Given the description of an element on the screen output the (x, y) to click on. 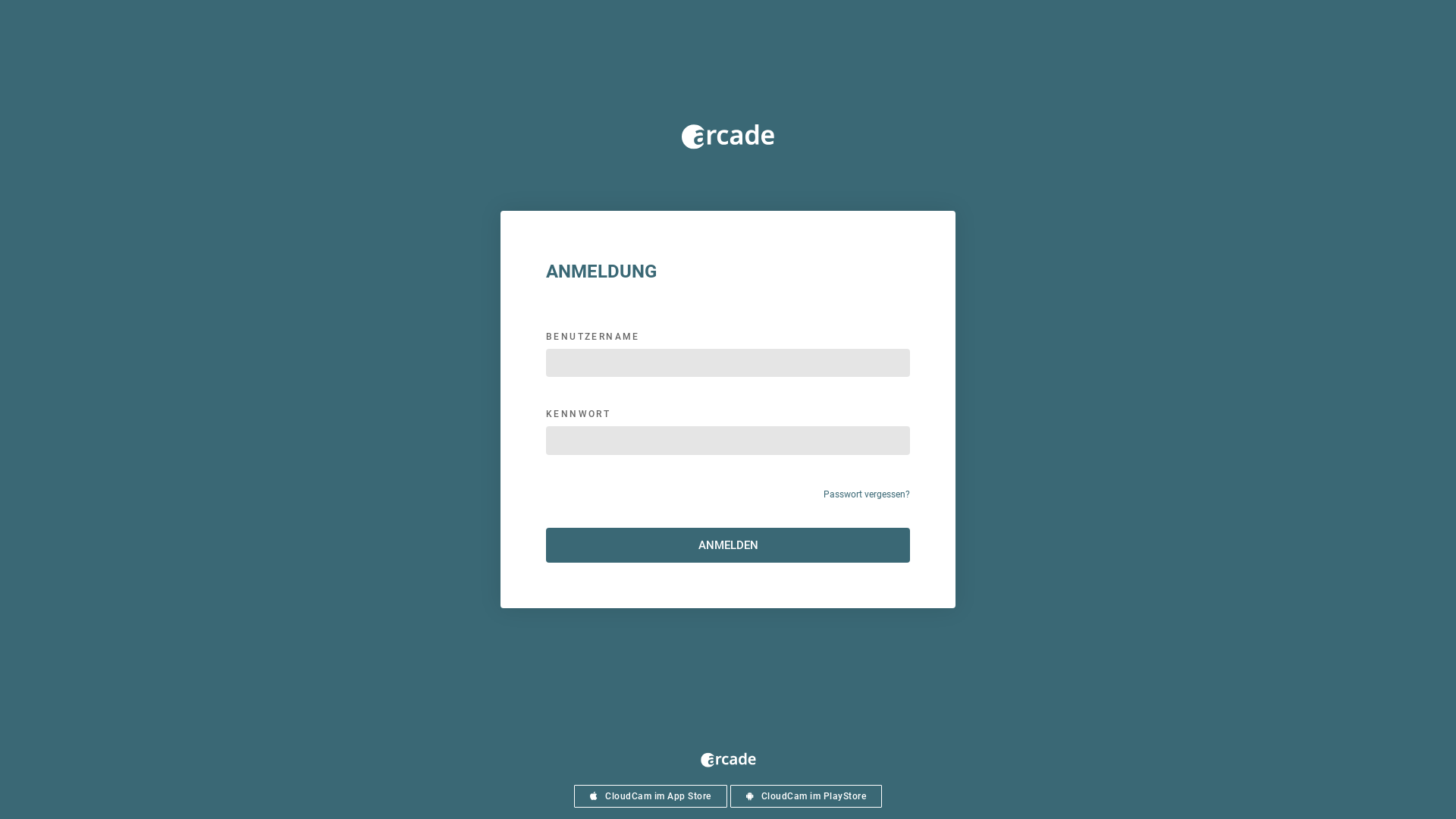
   CloudCam im App Store Element type: text (650, 795)
Passwort vergessen? Element type: text (866, 494)
   CloudCam im PlayStore Element type: text (805, 795)
ANMELDEN Element type: text (728, 545)
